Given the description of an element on the screen output the (x, y) to click on. 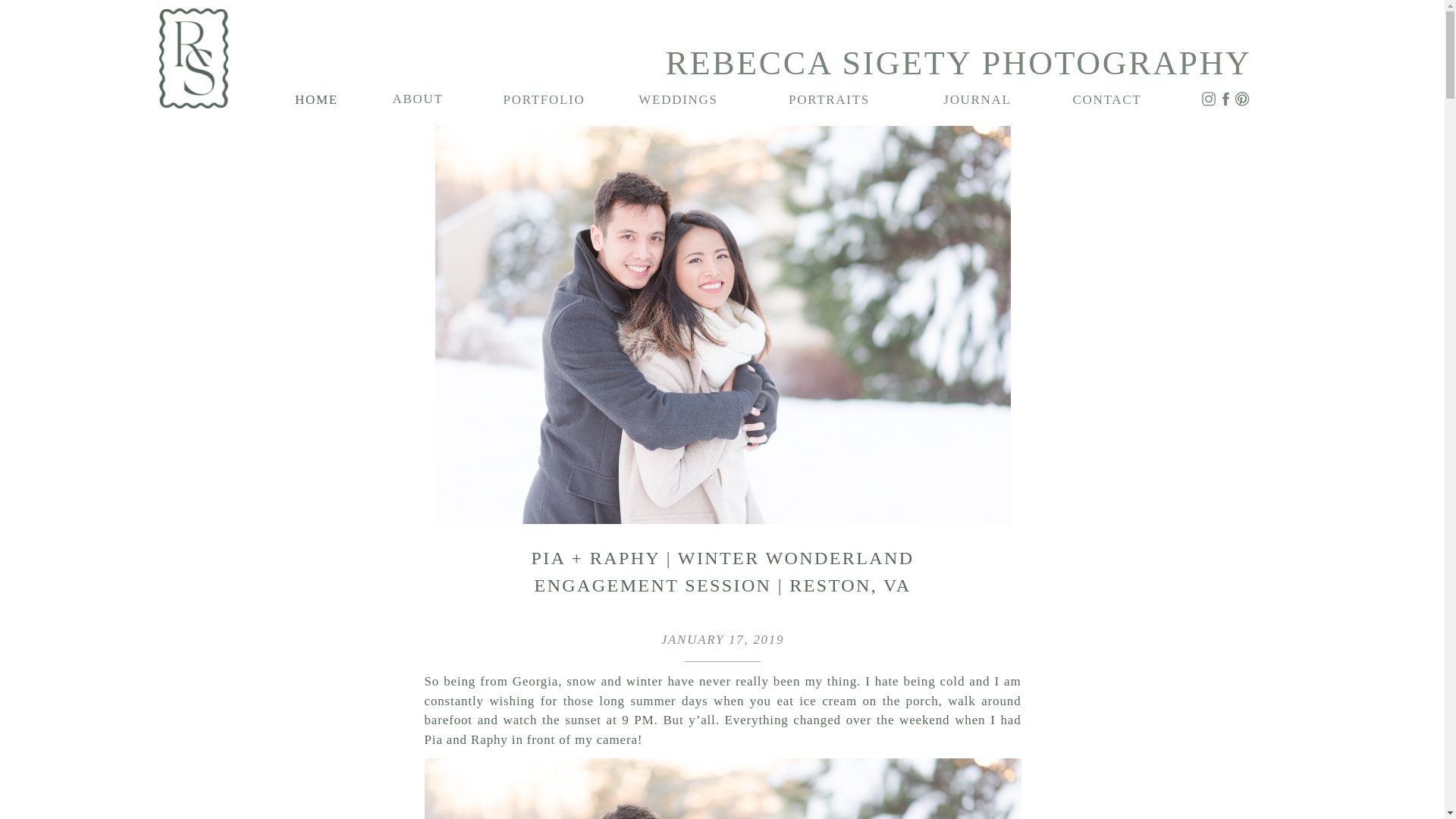
WEDDINGS (677, 97)
REBECCA SIGETY PHOTOGRAPHY (936, 57)
HOME (316, 97)
JOURNAL (977, 97)
PORTFOLIO (544, 97)
PORTRAITS (829, 97)
ABOUT (417, 96)
CONTACT (1106, 97)
